Given the description of an element on the screen output the (x, y) to click on. 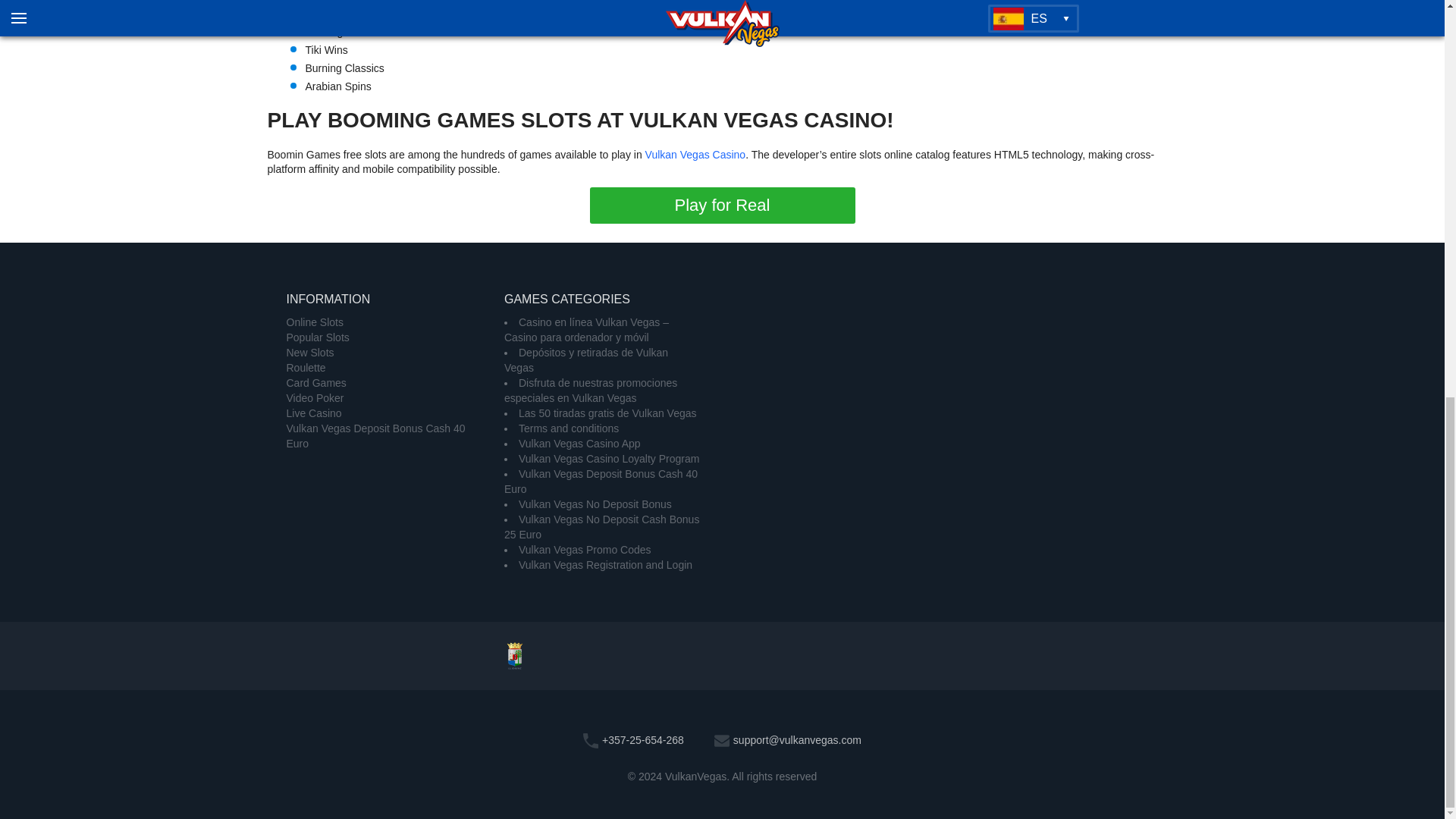
New Slots (310, 352)
Vulkan Vegas Casino (695, 154)
Online Slots (314, 322)
Popular Slots (317, 337)
Play for Real (722, 205)
